Given the description of an element on the screen output the (x, y) to click on. 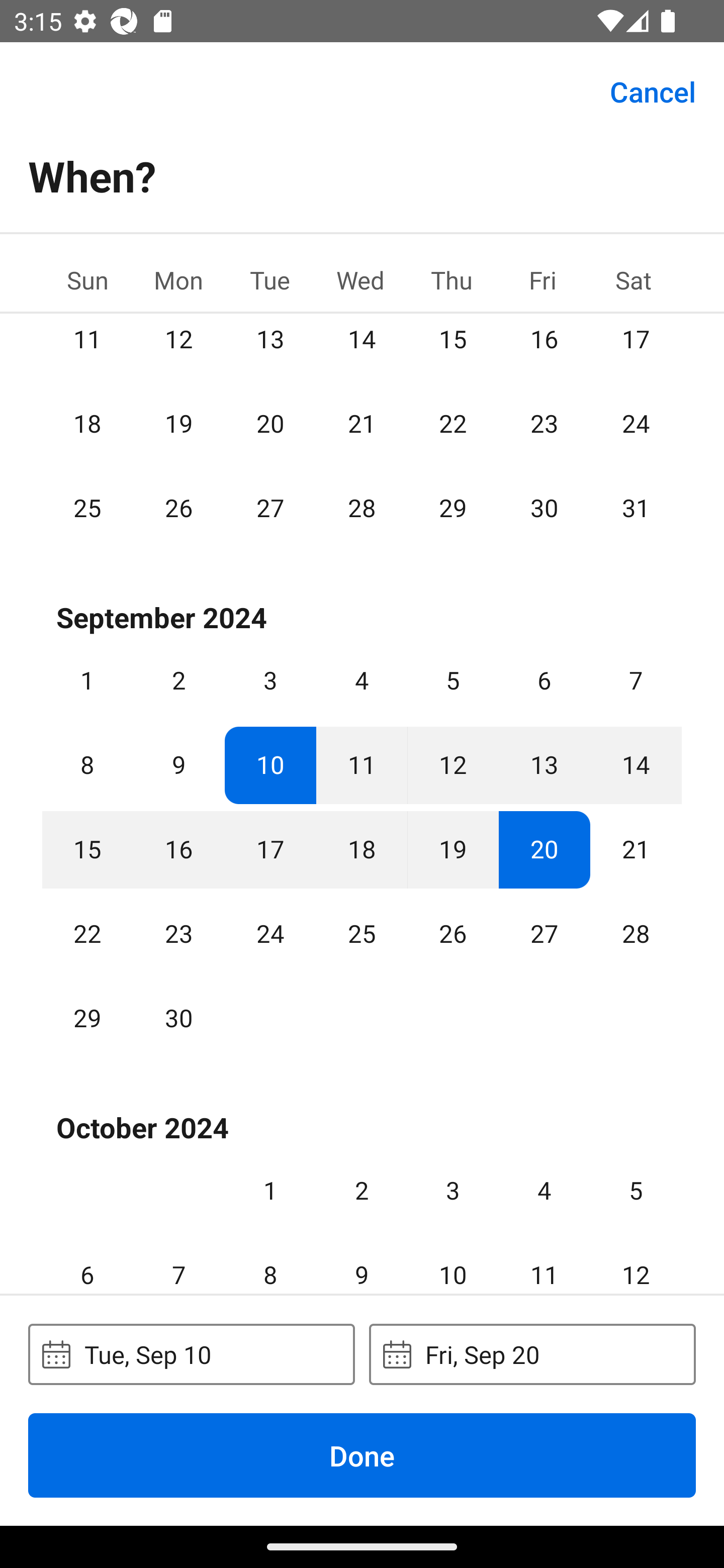
Cancel (652, 90)
Tue, Sep 10 (191, 1353)
Fri, Sep 20 (532, 1353)
Done (361, 1454)
